Given the description of an element on the screen output the (x, y) to click on. 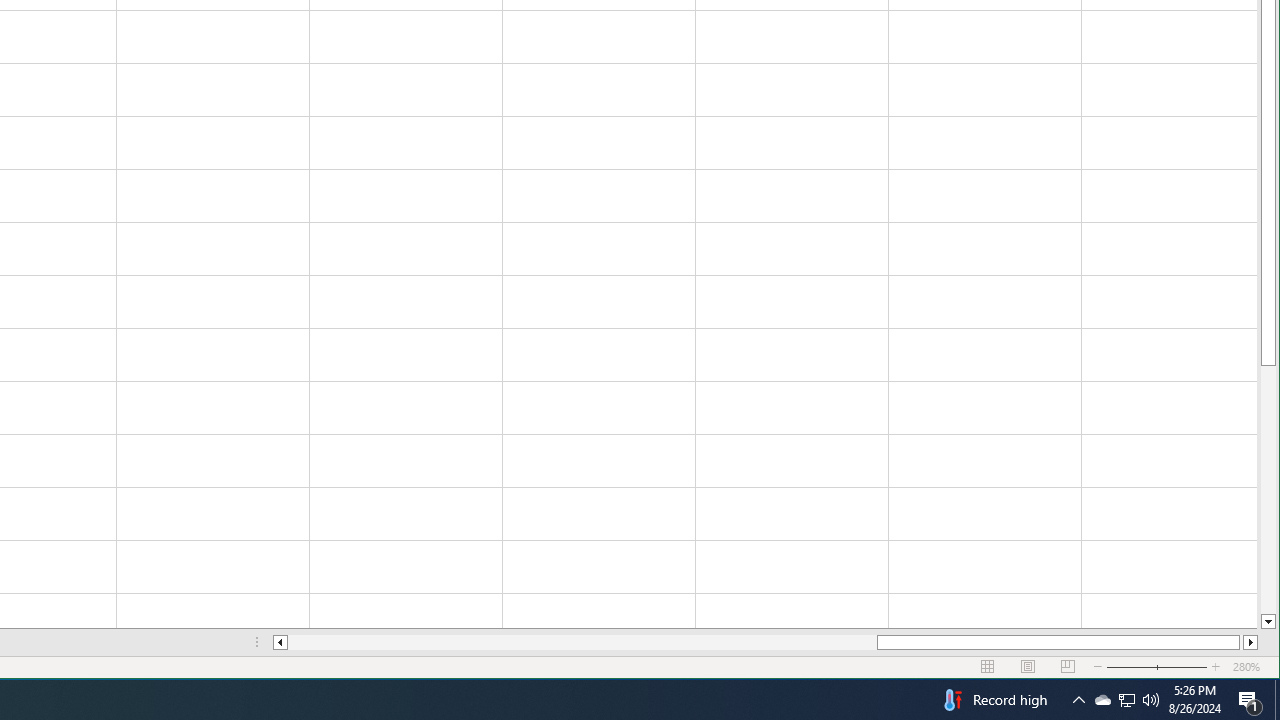
Action Center, 1 new notification (1250, 699)
